Given the description of an element on the screen output the (x, y) to click on. 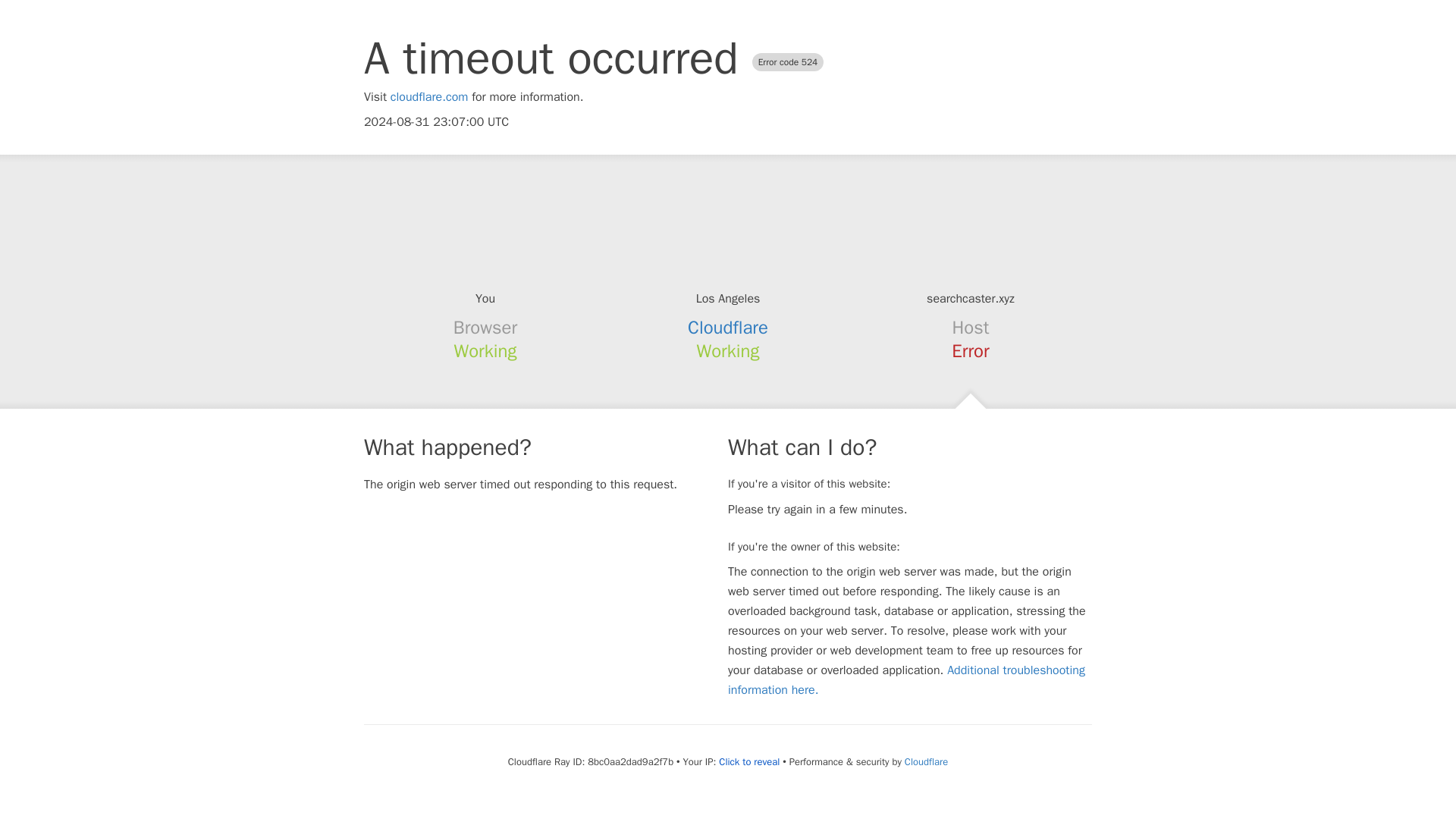
Click to reveal (748, 762)
cloudflare.com (429, 96)
Additional troubleshooting information here. (906, 679)
Cloudflare (727, 327)
Cloudflare (925, 761)
